Given the description of an element on the screen output the (x, y) to click on. 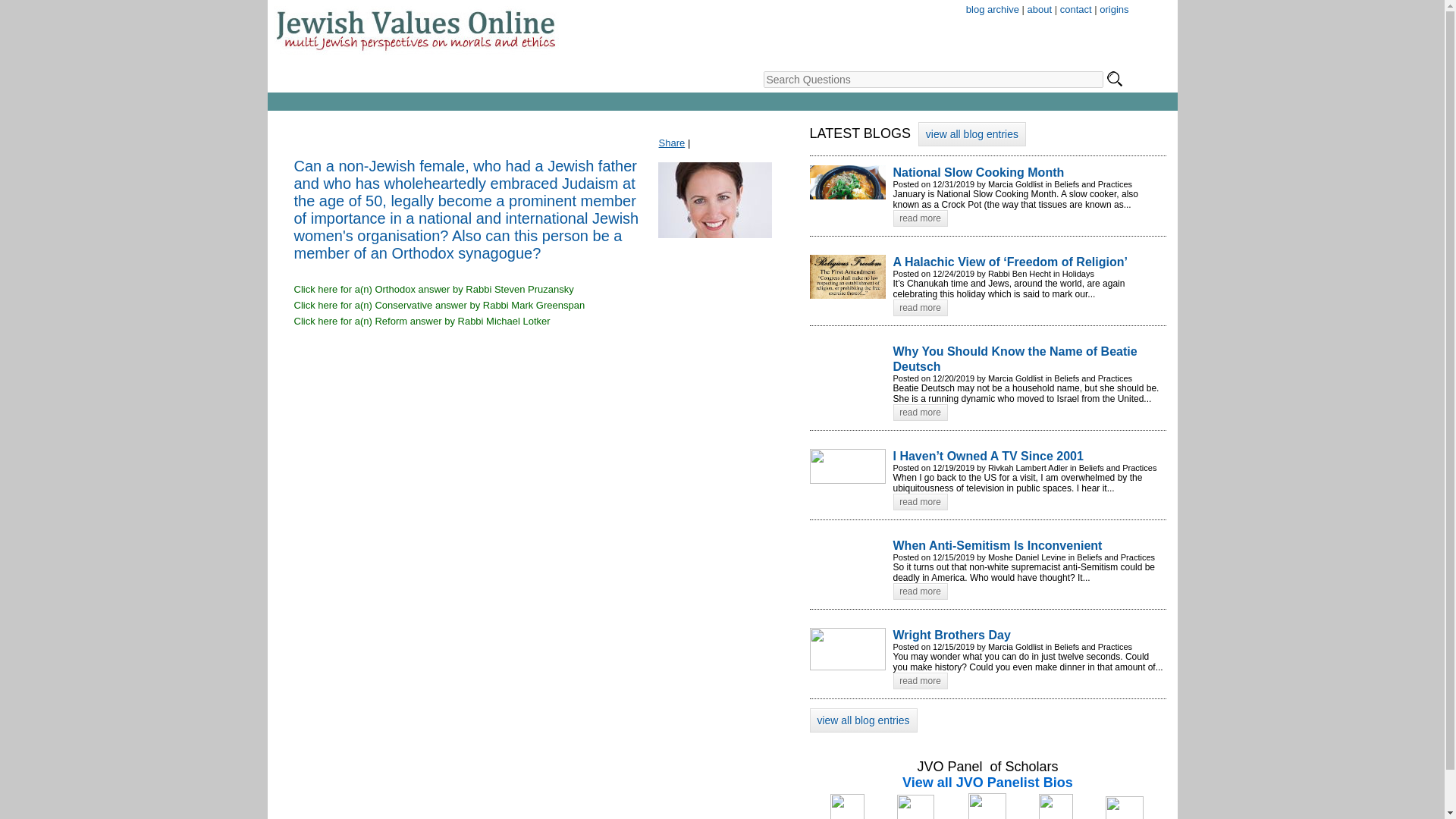
View all JVO Panelist Bios (987, 782)
contact (1075, 9)
read more (920, 501)
view all blog entries (863, 720)
When Anti-Semitism Is Inconvenient (1029, 545)
Wright Brothers Day (1029, 635)
Why You Should Know the Name of Beatie Deutsch (1029, 358)
read more (920, 412)
view all blog entries (972, 134)
blog archive (992, 9)
origins (1113, 9)
read more (920, 307)
read more (920, 217)
Share (672, 142)
read more (920, 680)
